Given the description of an element on the screen output the (x, y) to click on. 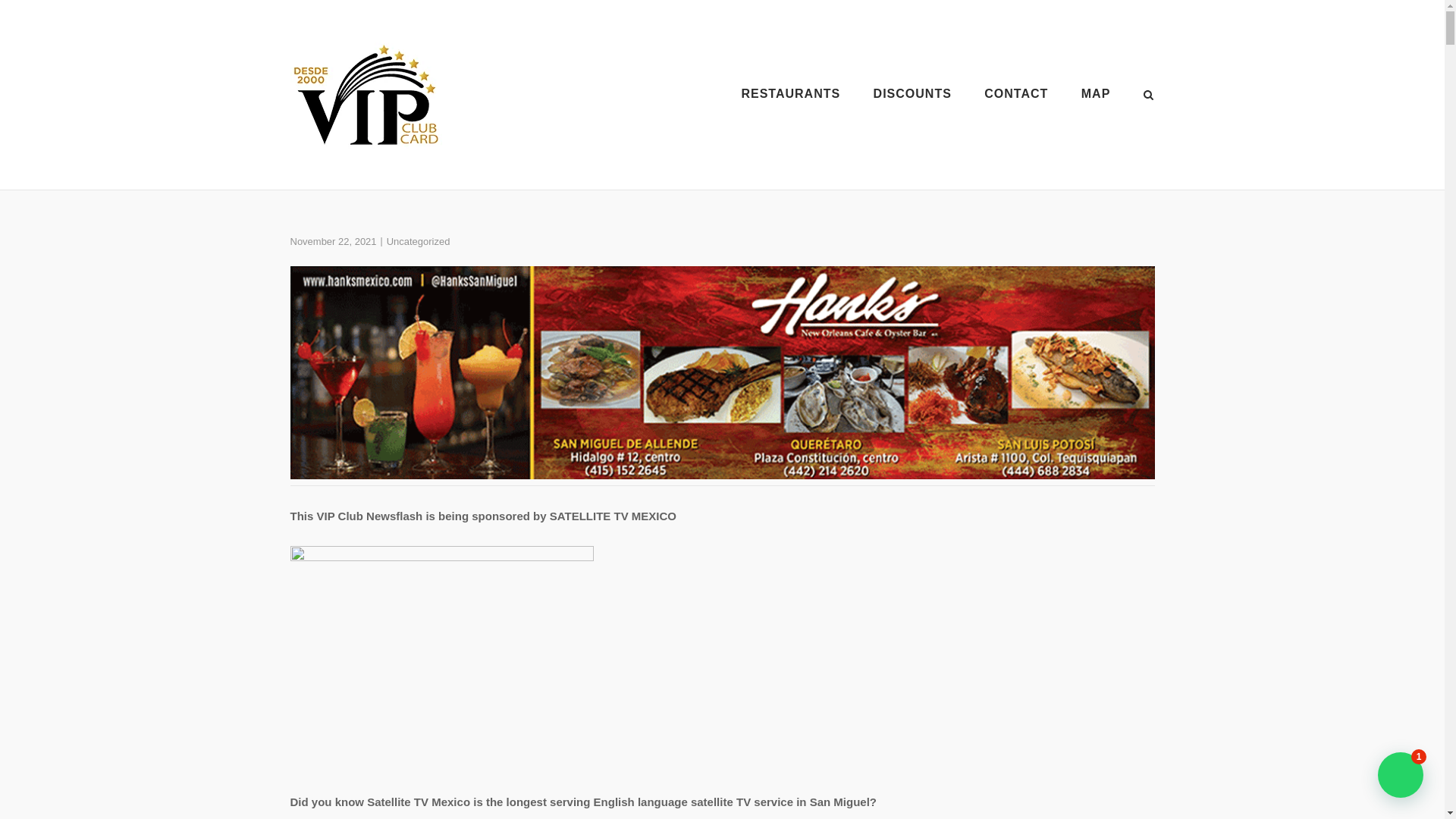
MAP (1095, 96)
DISCOUNTS (912, 95)
Uncategorized (418, 241)
RESTAURANTS (790, 96)
CONTACT (1016, 96)
